Given the description of an element on the screen output the (x, y) to click on. 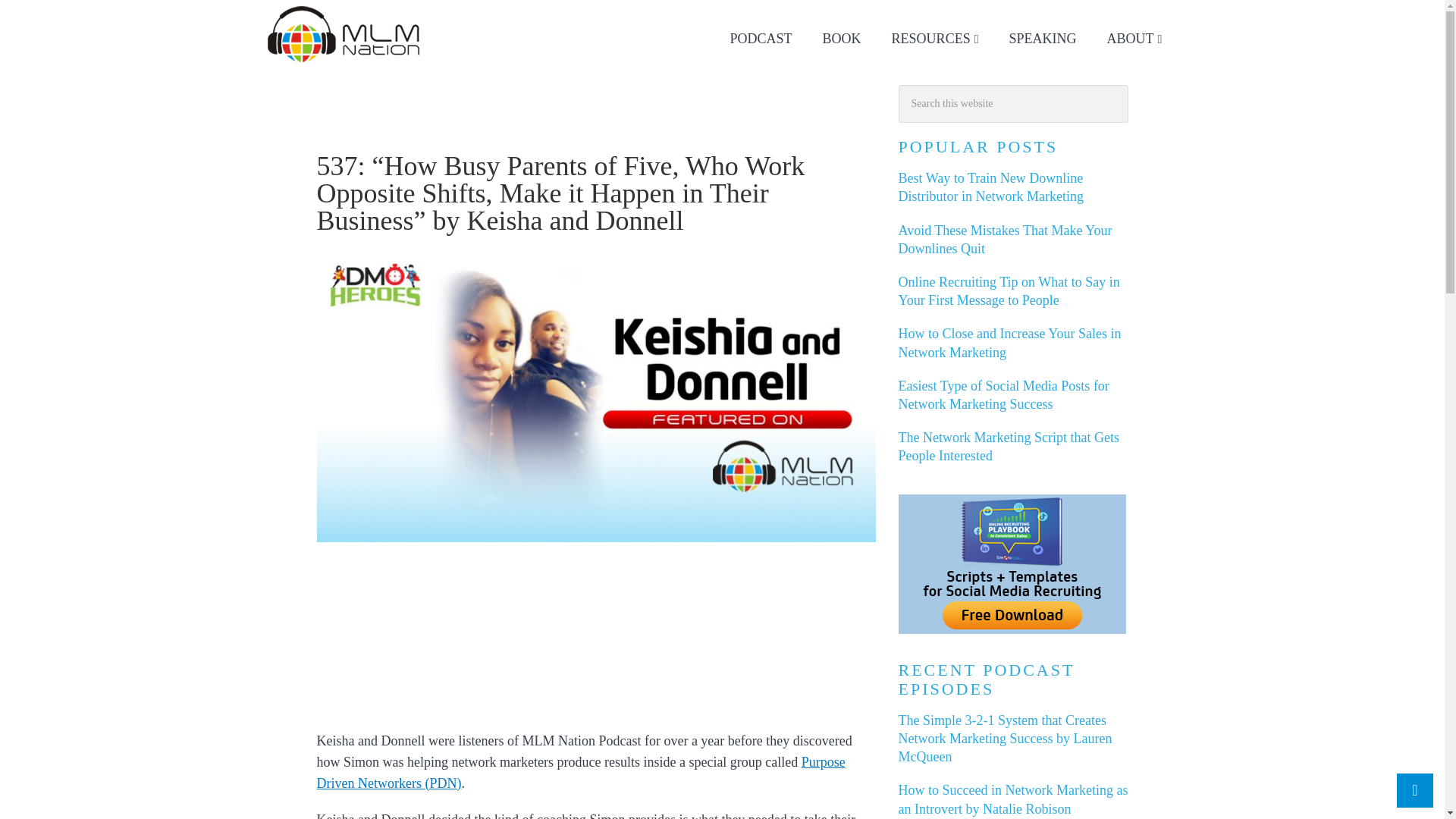
PODCAST (761, 38)
The Consistency Pill book (842, 38)
BOOK (842, 38)
ABOUT (1134, 38)
RESOURCES (935, 38)
MLM NATION (344, 33)
SPEAKING (1043, 38)
HOME (320, 120)
